Given the description of an element on the screen output the (x, y) to click on. 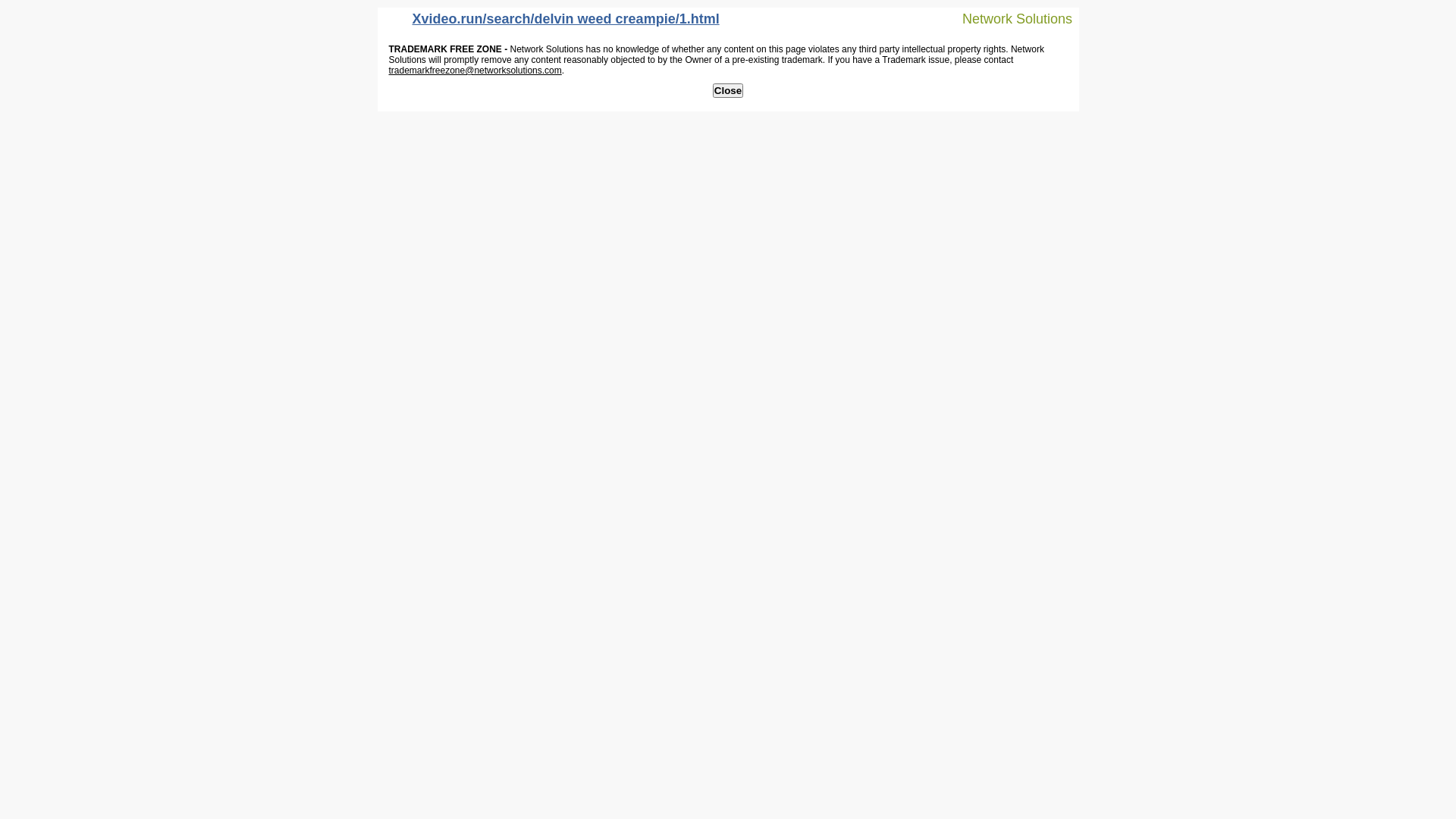
trademarkfreezone@networksolutions.com Element type: text (474, 70)
Network Solutions Element type: text (1007, 17)
Xvideo.run/search/delvin weed creampie/1.html Element type: text (552, 21)
Close Element type: text (727, 90)
